Given the description of an element on the screen output the (x, y) to click on. 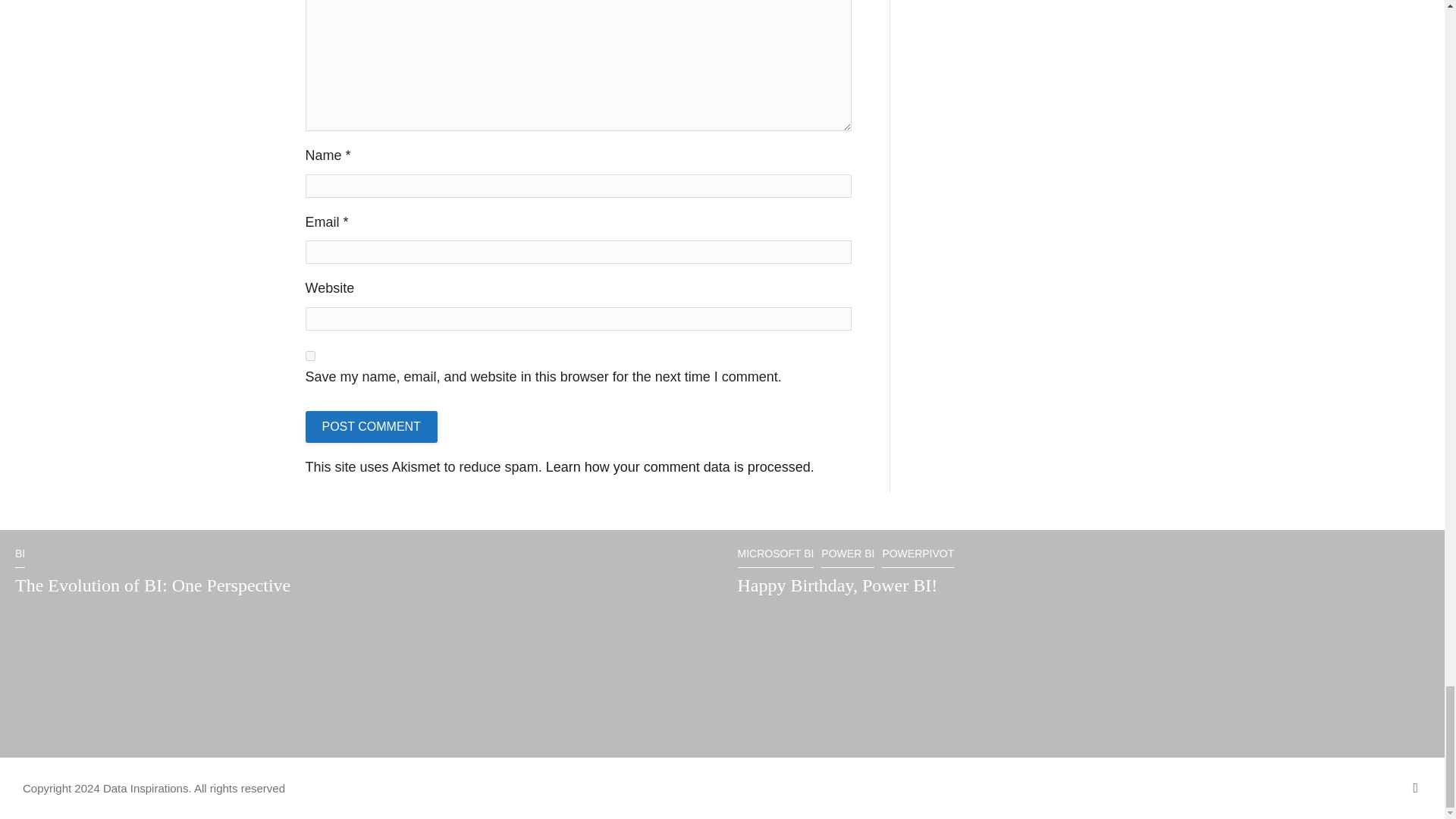
yes (309, 356)
Post Comment (370, 427)
